Given the description of an element on the screen output the (x, y) to click on. 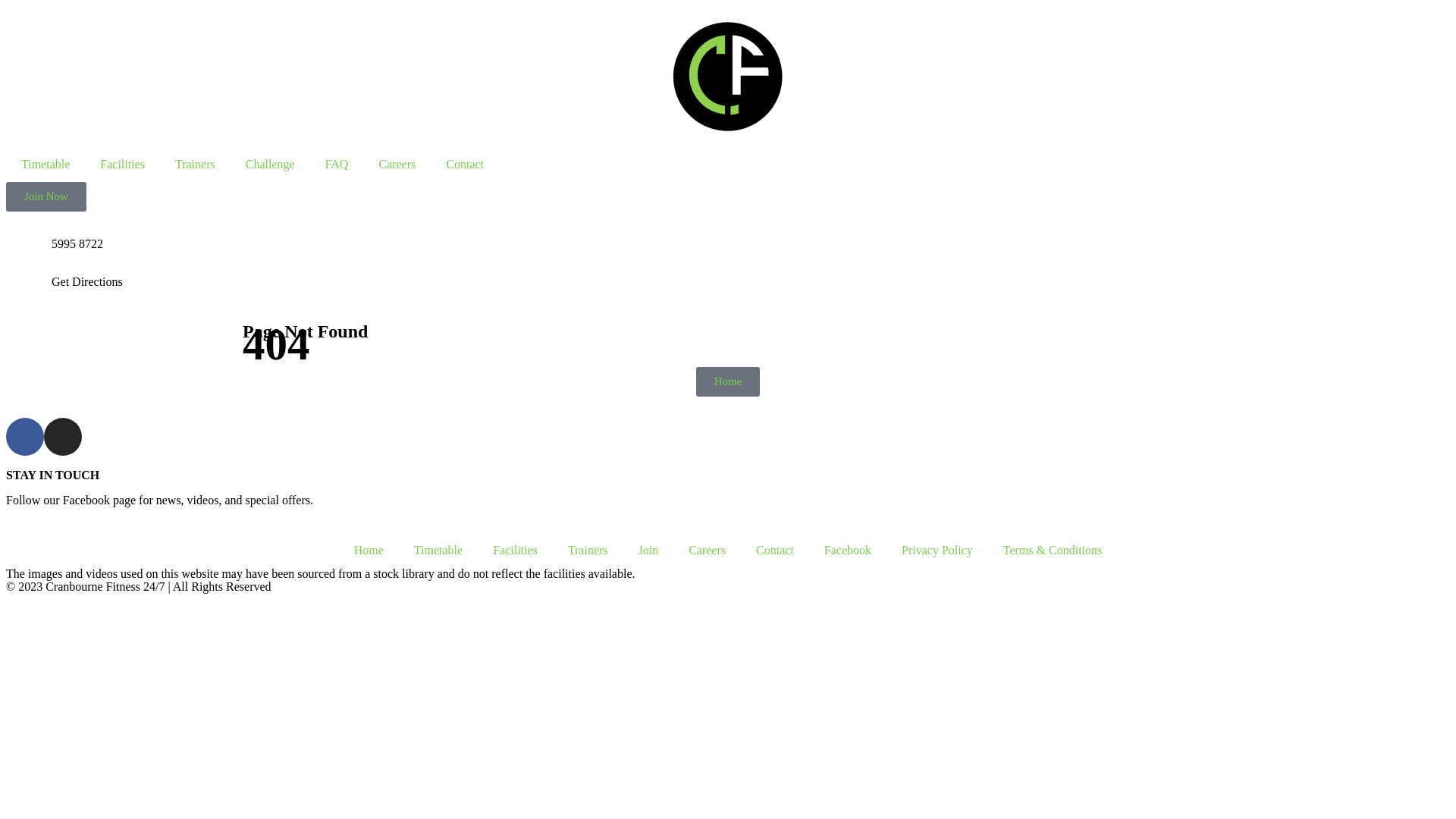
Privacy Policy Element type: text (937, 550)
Home Element type: text (728, 381)
5995 8722 Element type: text (77, 243)
Contact Element type: text (774, 550)
Trainers Element type: text (195, 164)
Trainers Element type: text (587, 550)
Facebook Element type: text (847, 550)
Join Now Element type: text (46, 196)
Careers Element type: text (706, 550)
Timetable Element type: text (437, 550)
Get Directions Element type: text (86, 281)
Timetable Element type: text (45, 164)
Facilities Element type: text (514, 550)
Join Element type: text (648, 550)
Careers Element type: text (396, 164)
Challenge Element type: text (270, 164)
Home Element type: text (368, 550)
Facilities Element type: text (122, 164)
Contact Element type: text (464, 164)
Terms & Conditions Element type: text (1052, 550)
FAQ Element type: text (337, 164)
